Given the description of an element on the screen output the (x, y) to click on. 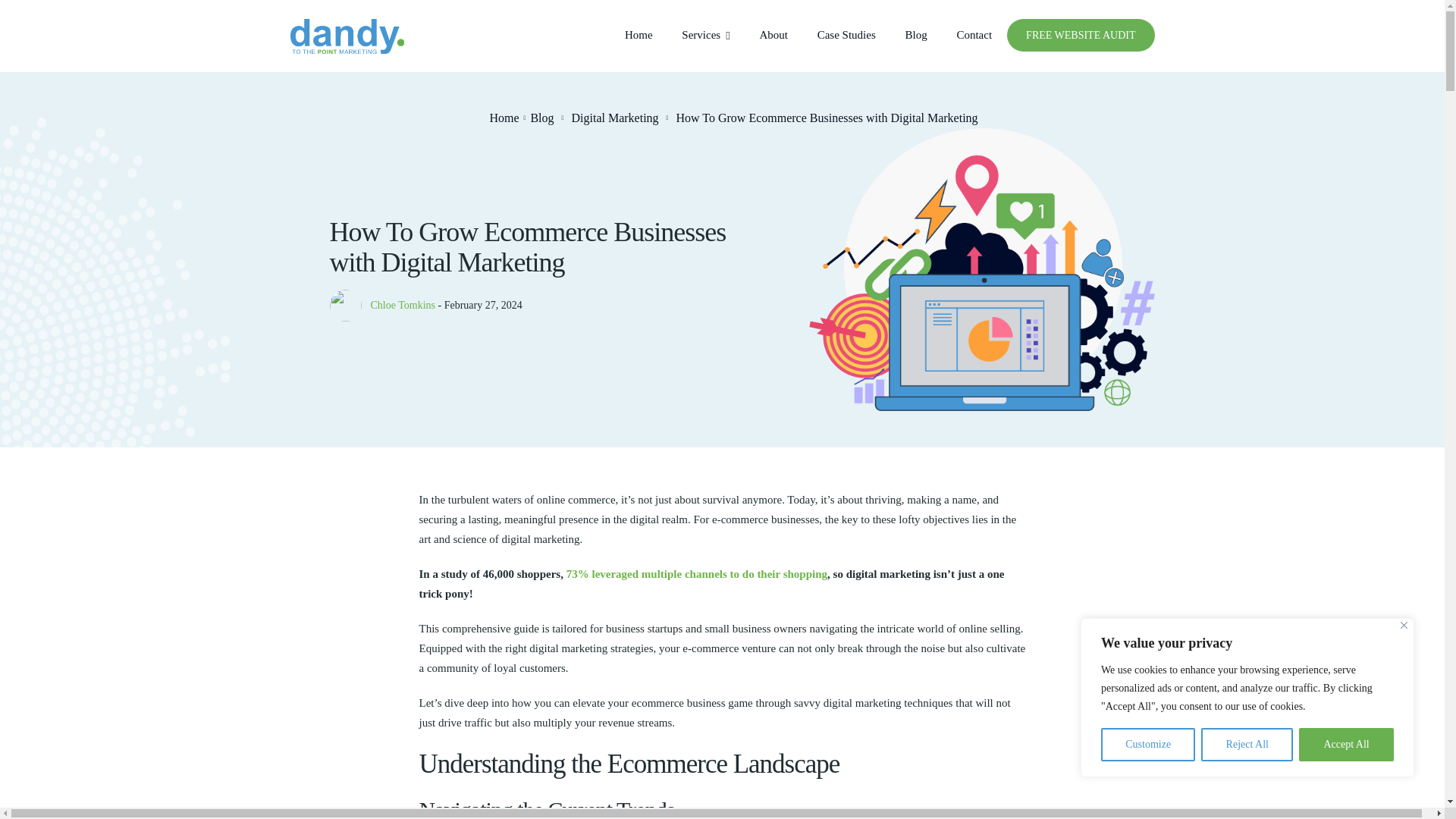
Customize (1147, 744)
Chloe Tomkins (402, 305)
About (772, 39)
Home (638, 39)
Services (705, 39)
Case Studies (846, 39)
Contact (973, 39)
Reject All (1246, 744)
Accept All (1345, 744)
FREE WEBSITE AUDIT (1080, 34)
Home (503, 117)
